Given the description of an element on the screen output the (x, y) to click on. 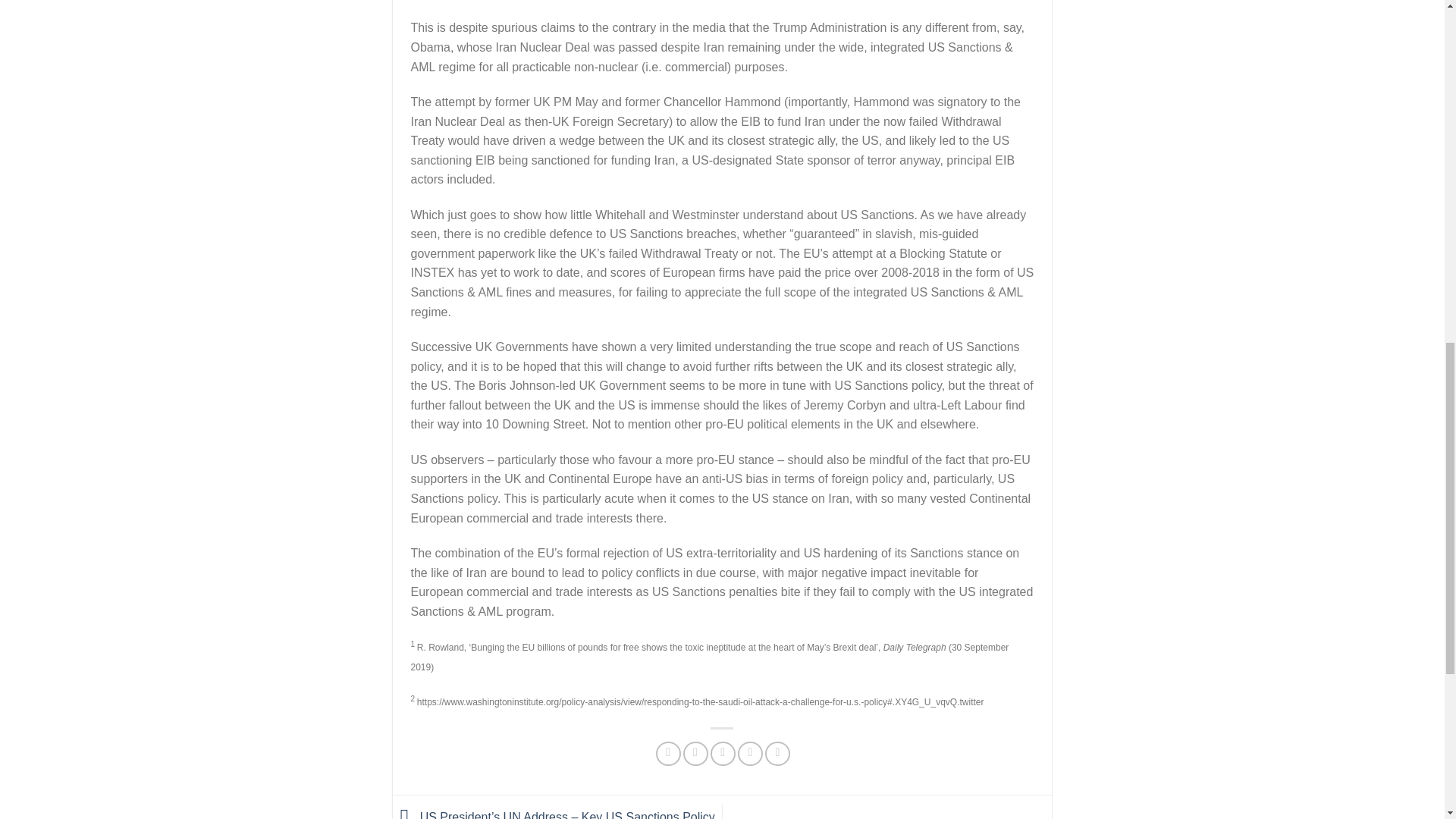
Share on LinkedIn (777, 754)
Share on Facebook (668, 754)
Email to a Friend (722, 754)
Pin on Pinterest (750, 754)
Share on Twitter (694, 754)
